Given the description of an element on the screen output the (x, y) to click on. 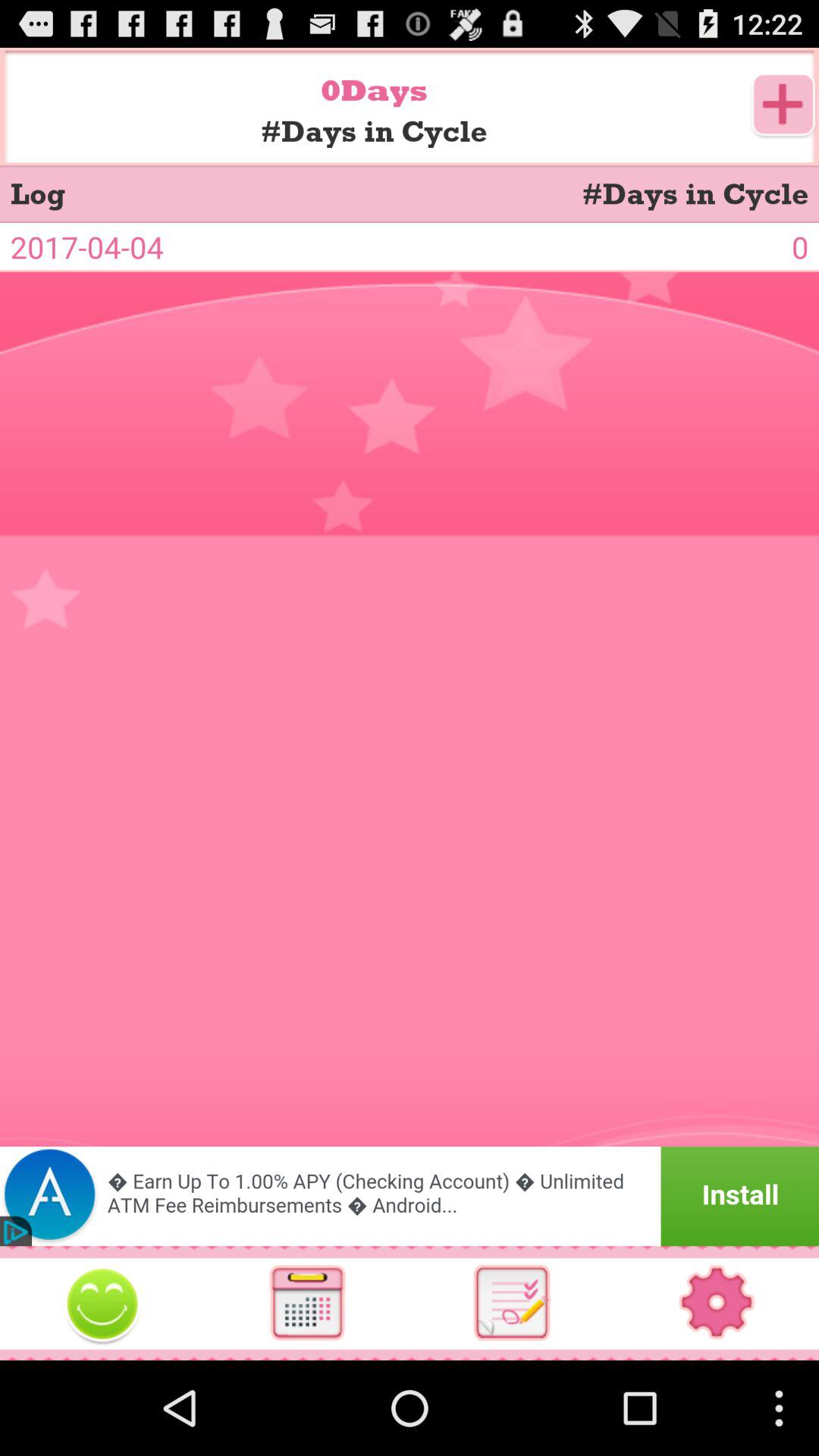
smiles text (102, 1302)
